Given the description of an element on the screen output the (x, y) to click on. 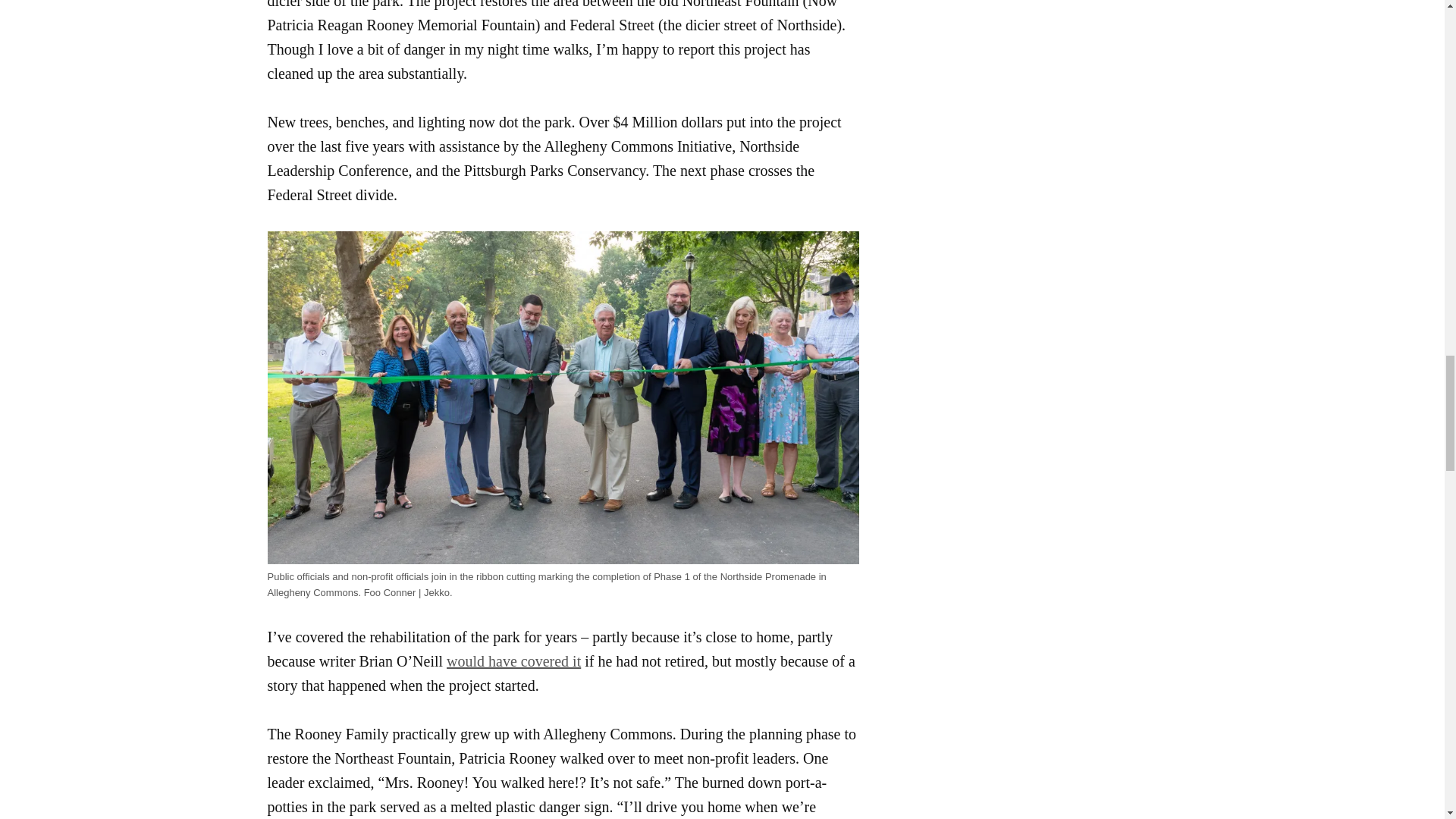
would have covered it (513, 660)
